Given the description of an element on the screen output the (x, y) to click on. 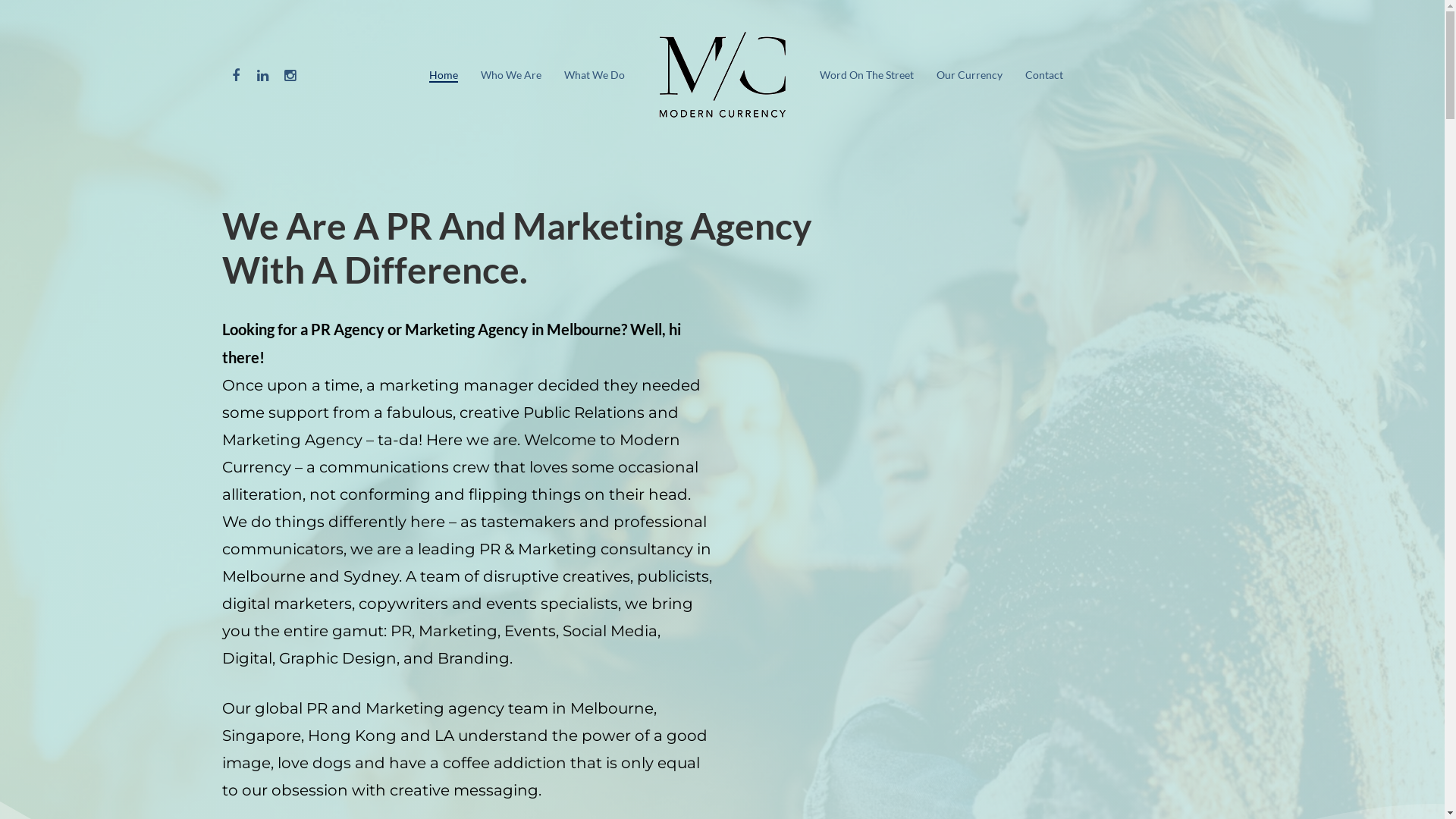
Our Currency Element type: text (968, 74)
Our Currency Element type: text (876, 609)
Contact Element type: text (961, 609)
What We Do Element type: text (649, 609)
Home Element type: text (477, 612)
Home Element type: text (443, 74)
What We Do Element type: text (594, 74)
Word On The Street Element type: text (866, 74)
Word on the street Element type: text (761, 609)
Contact Element type: text (1044, 74)
Who We Are Element type: text (510, 74)
Who We Are Element type: text (553, 609)
